Given the description of an element on the screen output the (x, y) to click on. 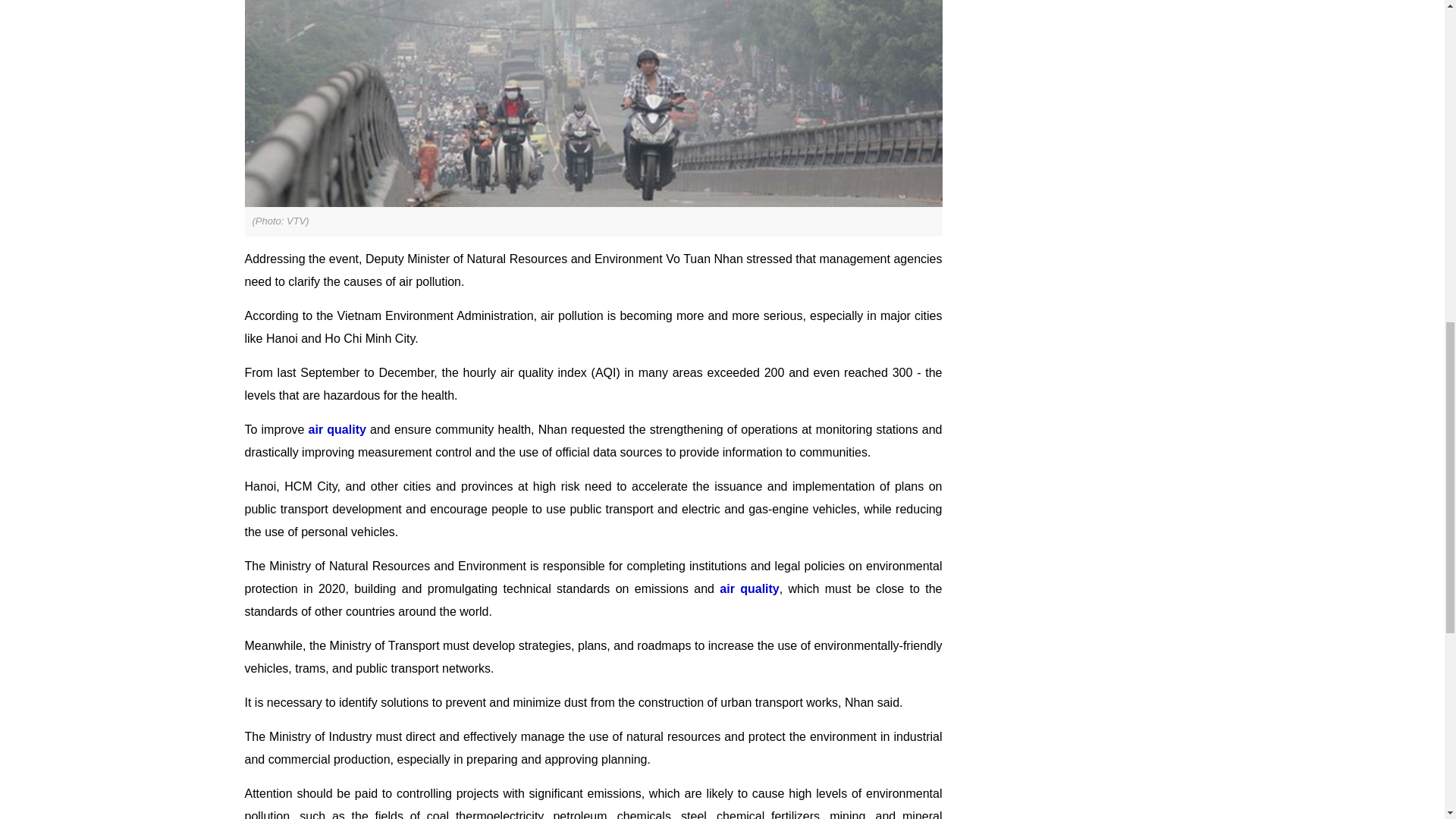
air quality (748, 588)
air quality (337, 429)
